Given the description of an element on the screen output the (x, y) to click on. 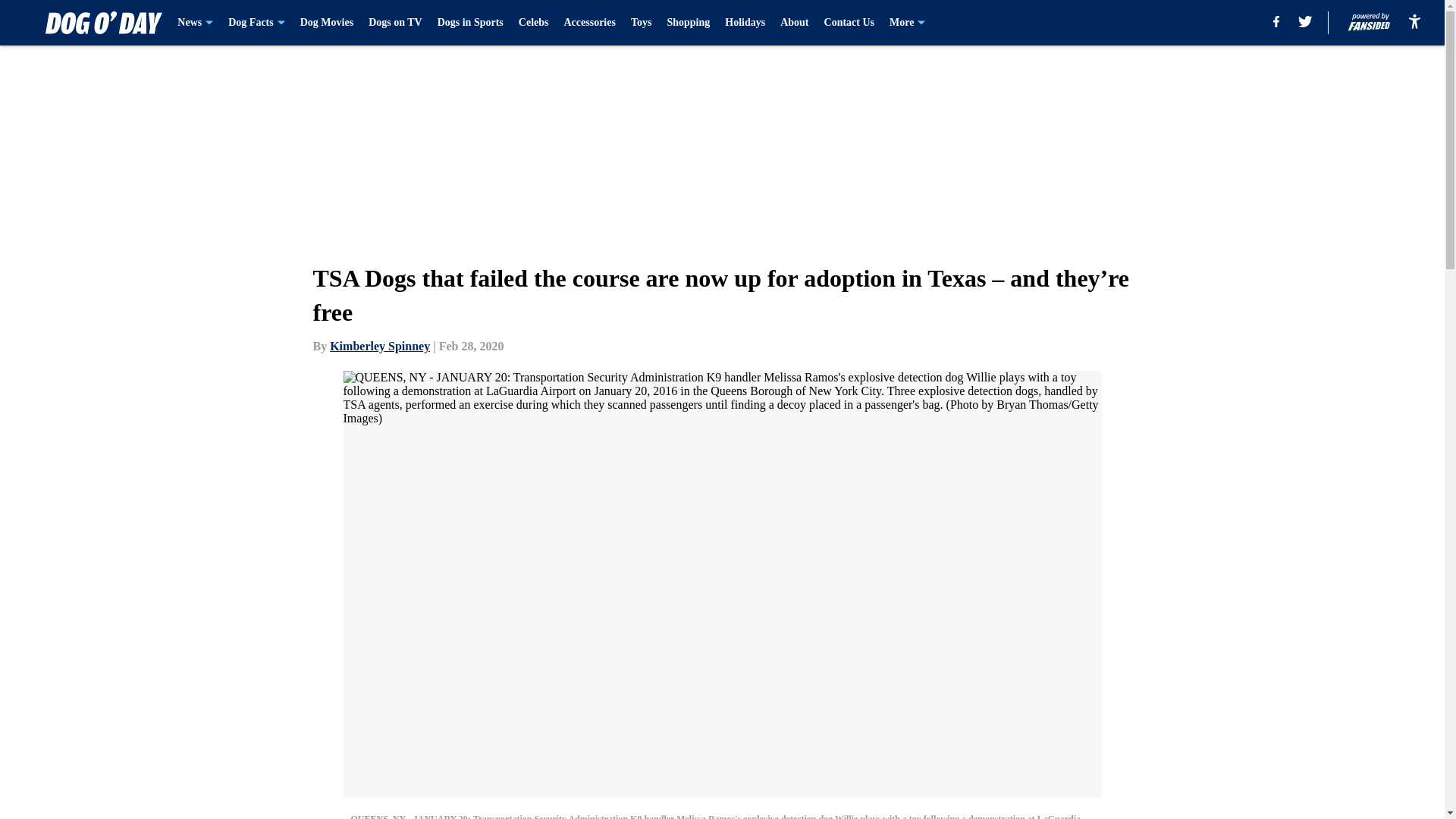
Accessories (588, 22)
Contact Us (849, 22)
News (194, 22)
Kimberley Spinney (379, 345)
More (906, 22)
Celebs (533, 22)
Toys (641, 22)
Holidays (745, 22)
About (794, 22)
Dog Facts (256, 22)
